Given the description of an element on the screen output the (x, y) to click on. 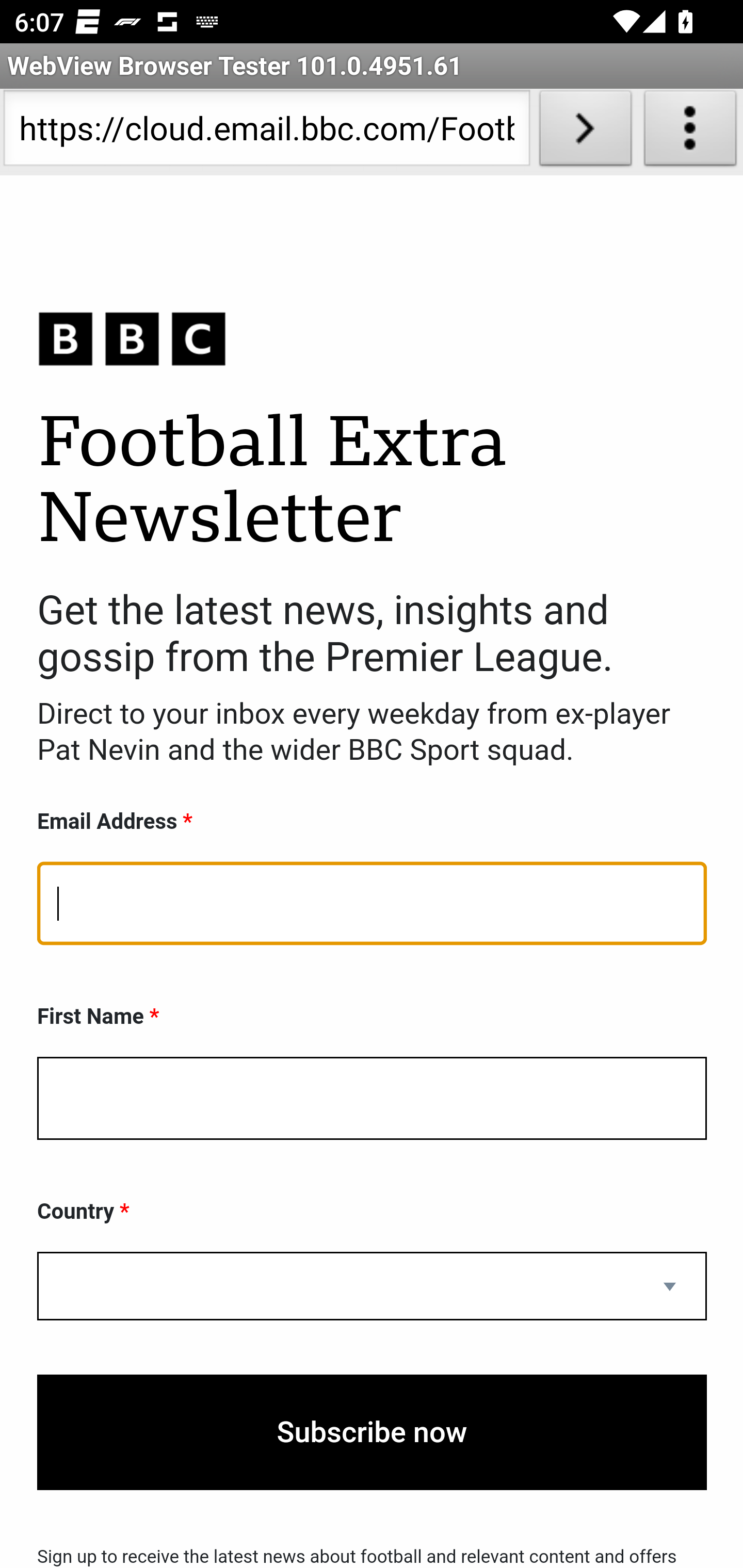
Load URL (585, 132)
About WebView (690, 132)
BBC (372, 338)
Subscribe now (372, 1432)
